Given the description of an element on the screen output the (x, y) to click on. 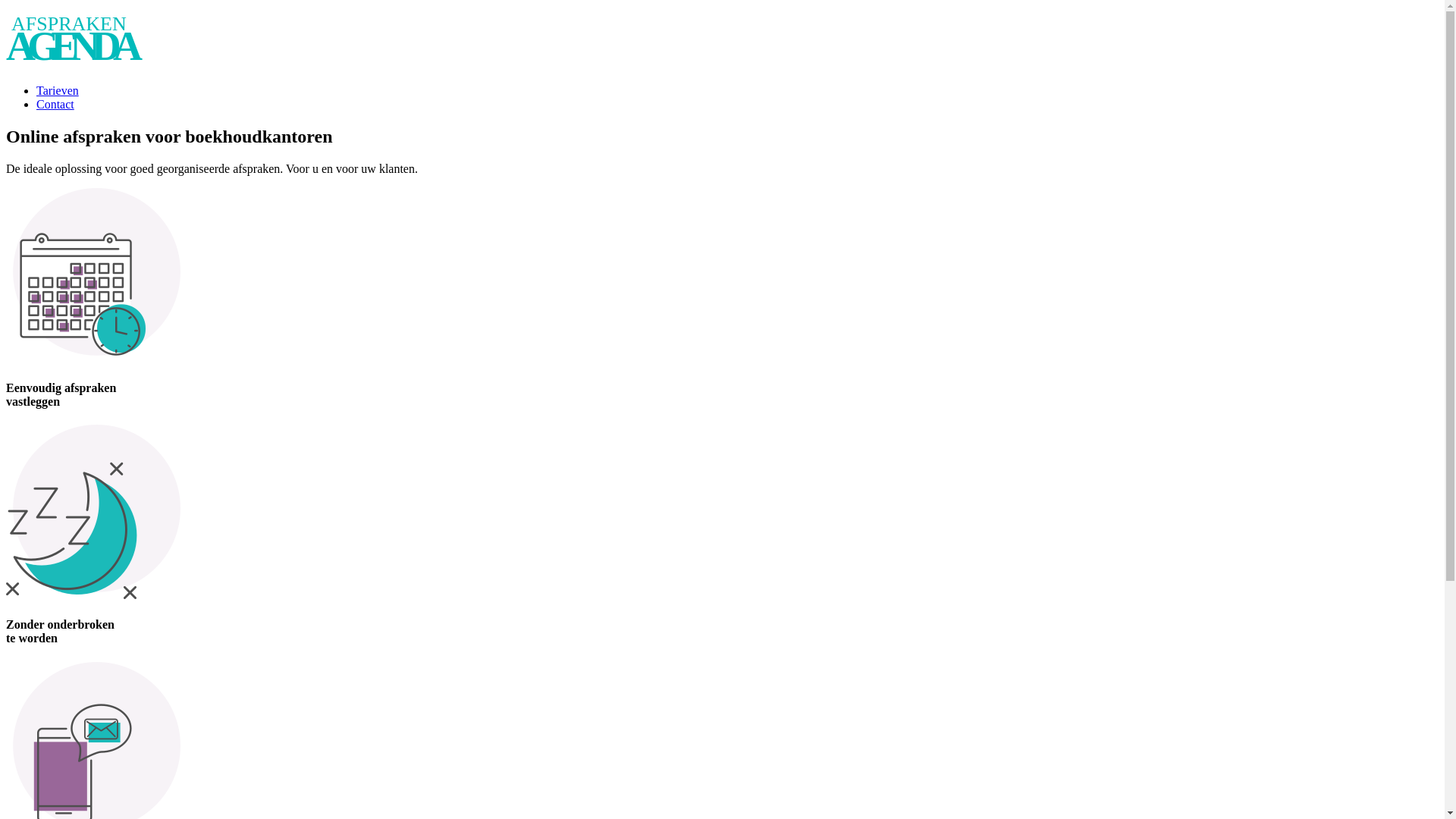
Tarieven Element type: text (57, 90)
Afsprakenagenda Afsprakenagenda
AFSPRAKEN
AGENDA Element type: text (81, 52)
Contact Element type: text (55, 103)
